Given the description of an element on the screen output the (x, y) to click on. 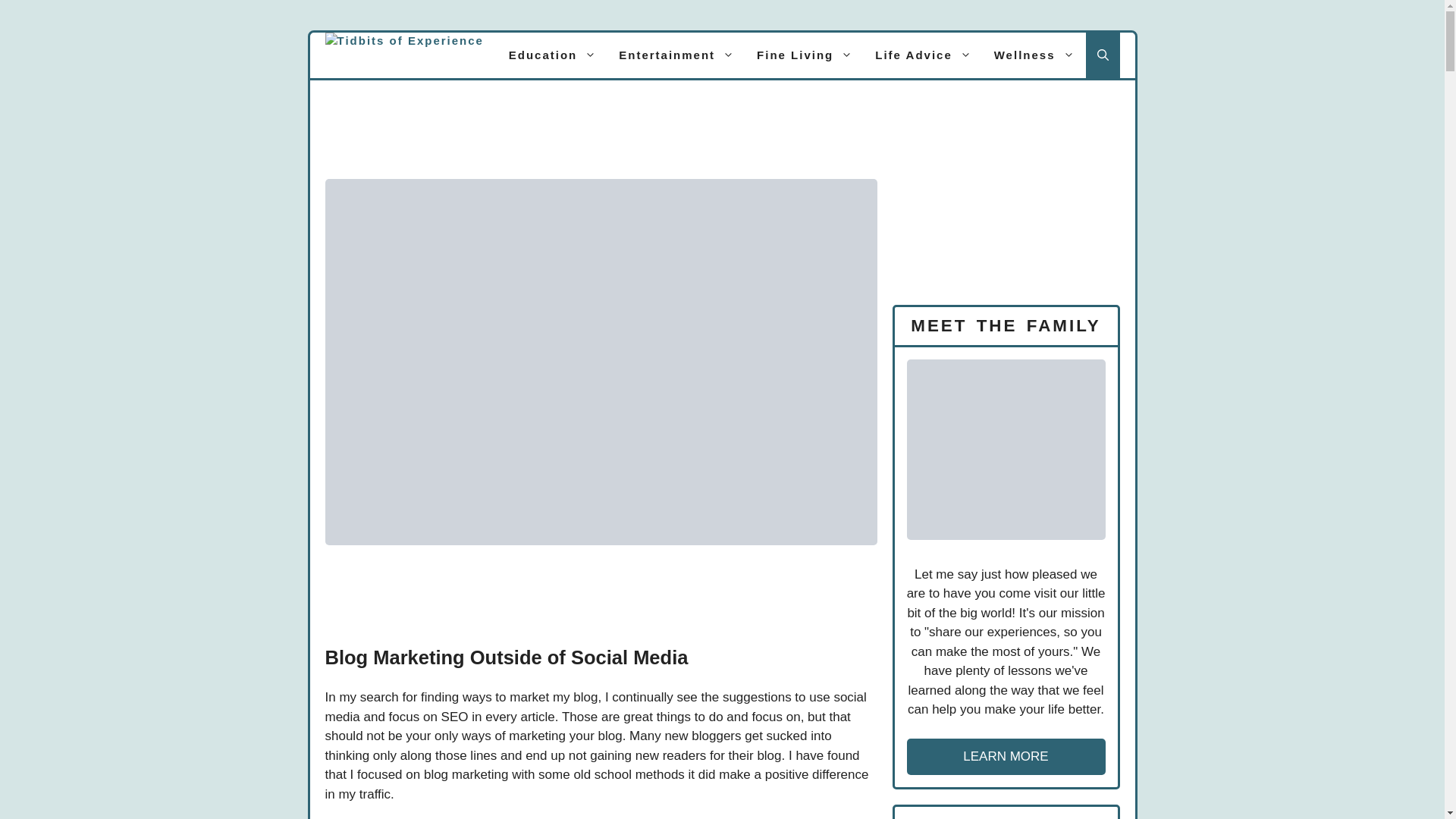
Entertainment (676, 54)
Tidbits of Experience (403, 54)
Education (552, 54)
Fine Living (804, 54)
